Given the description of an element on the screen output the (x, y) to click on. 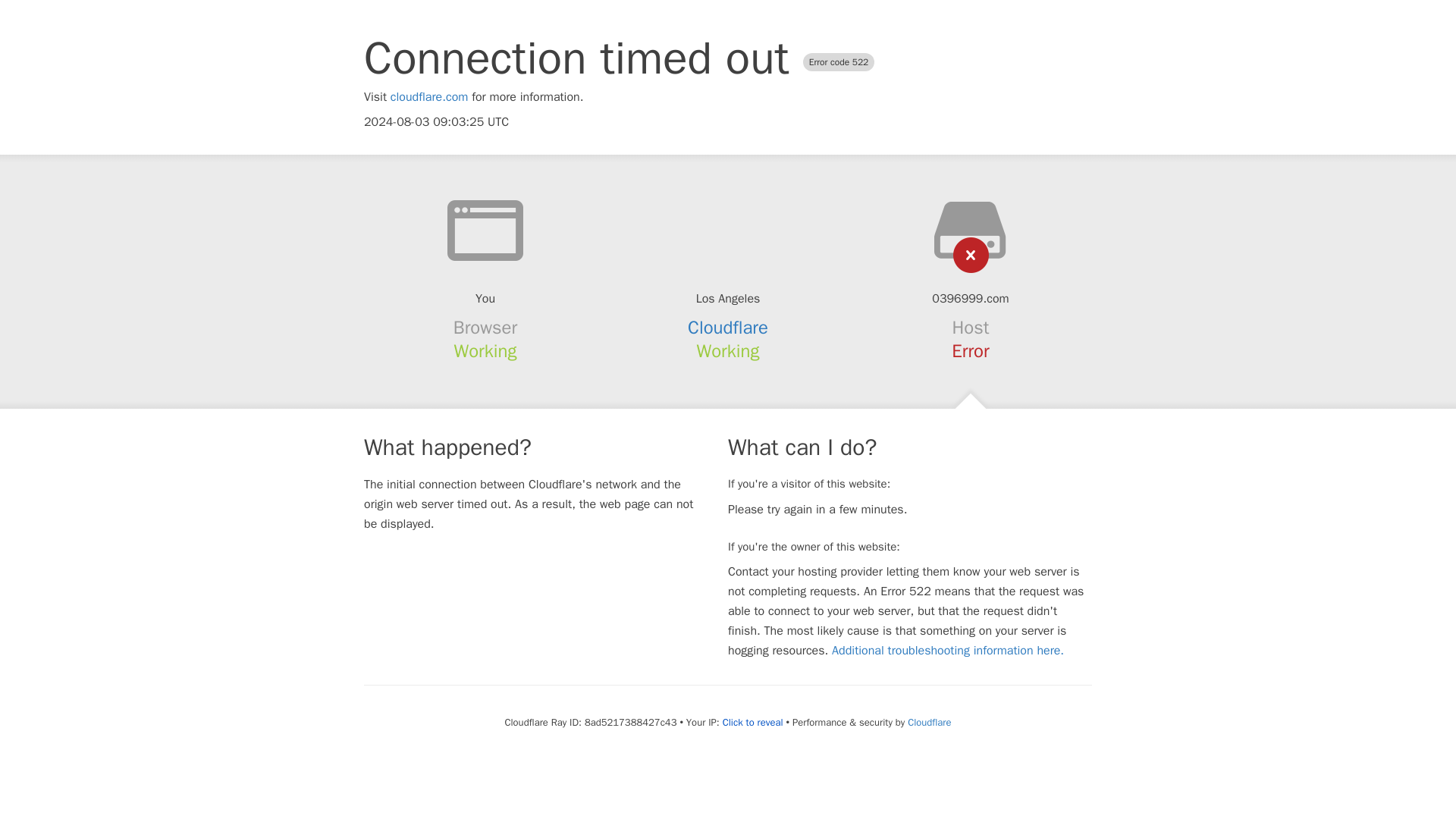
Cloudflare (928, 721)
Click to reveal (752, 722)
cloudflare.com (429, 96)
Cloudflare (727, 327)
Additional troubleshooting information here. (947, 650)
